Given the description of an element on the screen output the (x, y) to click on. 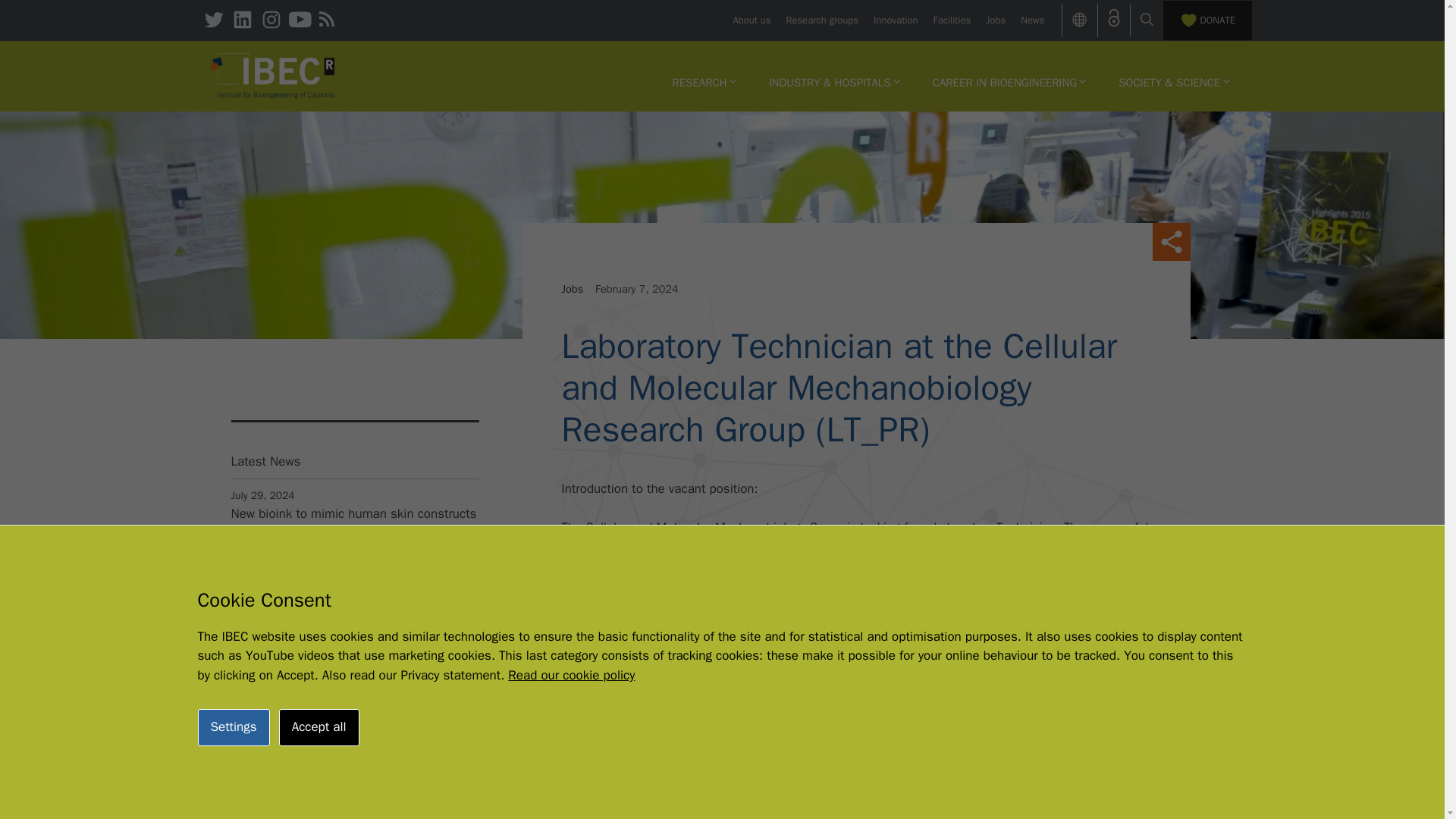
Innovation (895, 19)
Institute for Bioengineering of Catalonia (272, 75)
Jobs (995, 19)
Institute for Bioengineering of Catalonia (272, 74)
DONATE (1207, 20)
About us (751, 19)
RESEARCH (704, 81)
Research groups (822, 19)
Facilities (952, 19)
News (1031, 19)
